Given the description of an element on the screen output the (x, y) to click on. 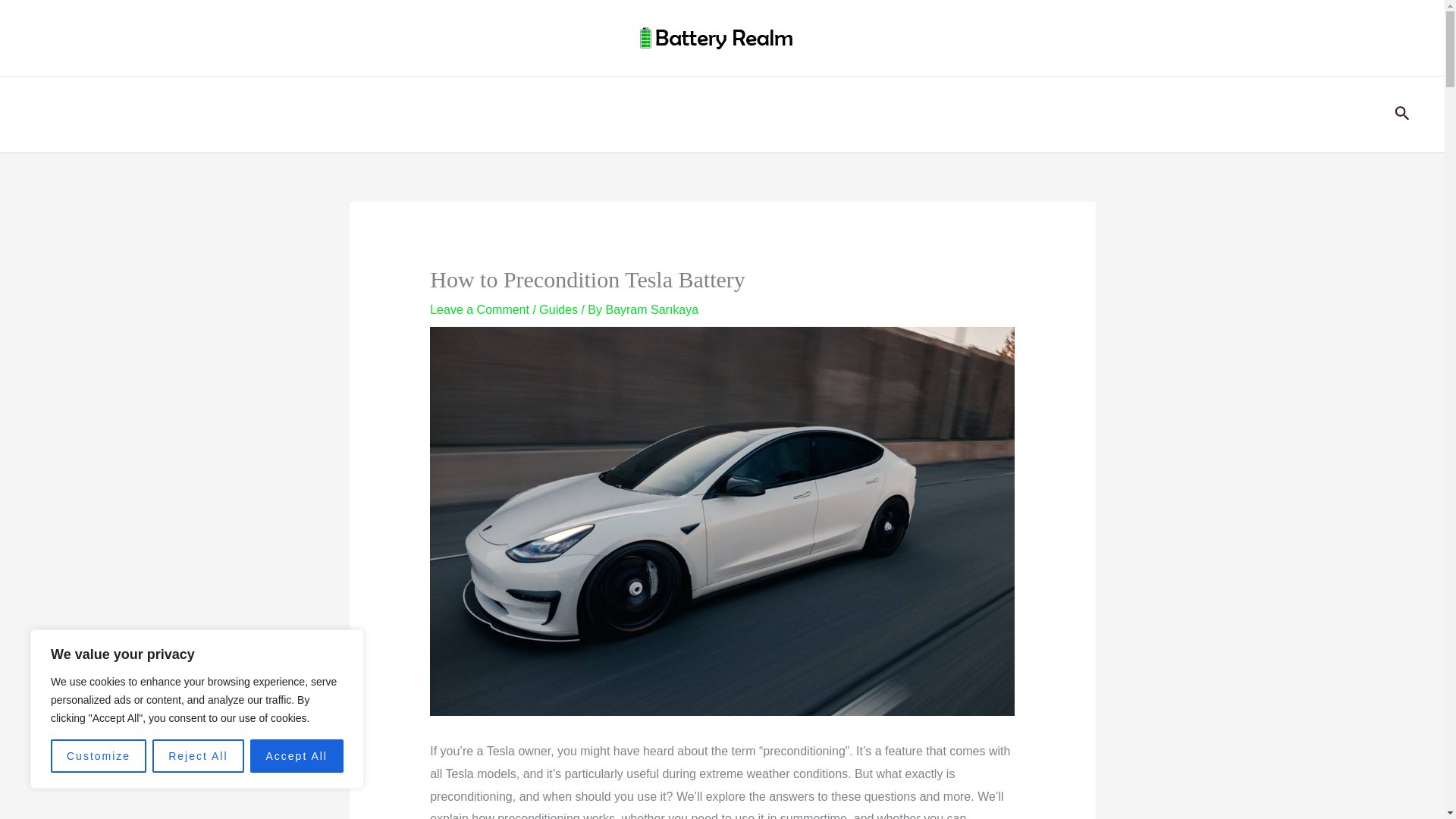
Accept All (296, 756)
Reject All (197, 756)
Reviews (324, 114)
Guides (558, 309)
Customize (98, 756)
Comparison (127, 114)
Leave a Comment (479, 309)
